Given the description of an element on the screen output the (x, y) to click on. 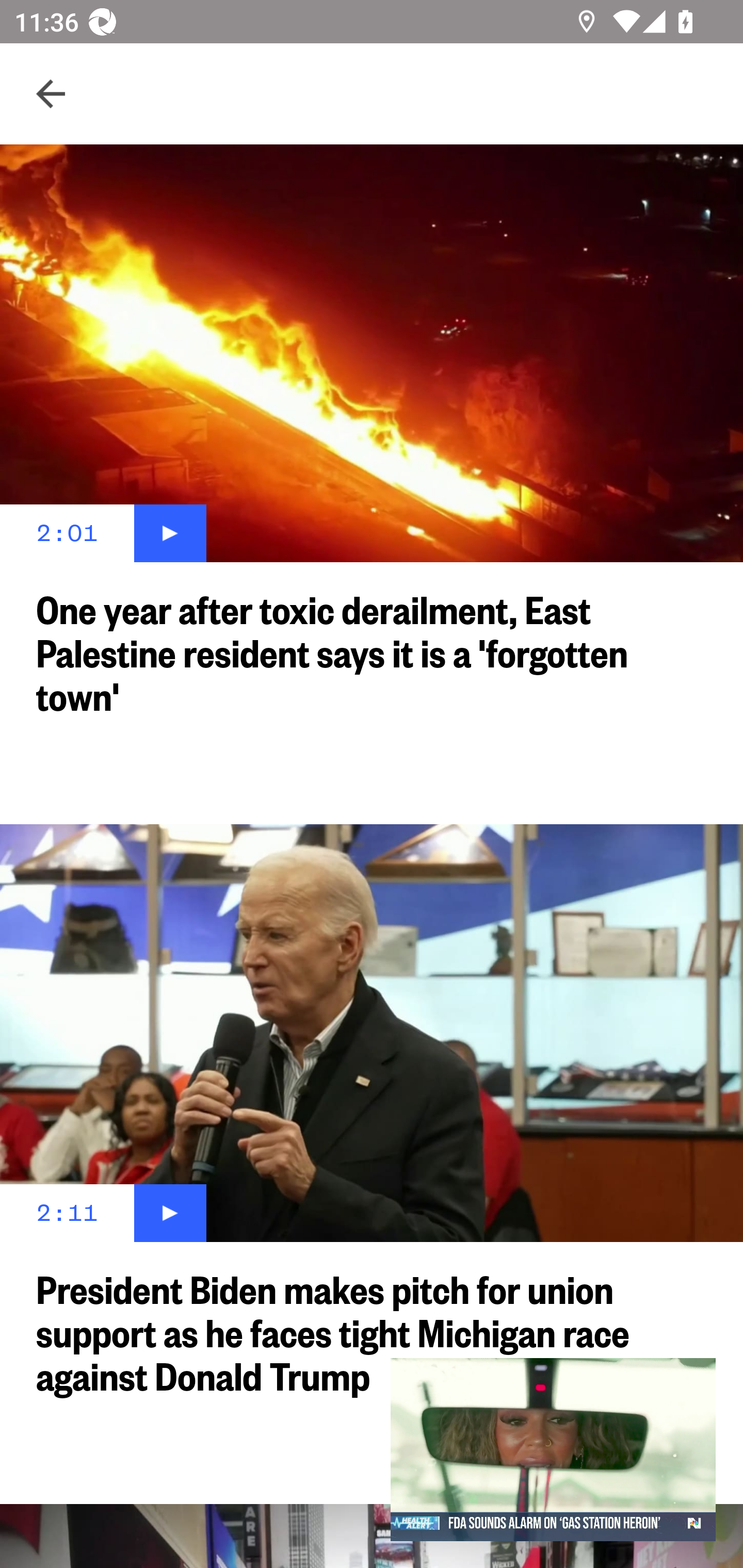
Navigate up (50, 93)
